Given the description of an element on the screen output the (x, y) to click on. 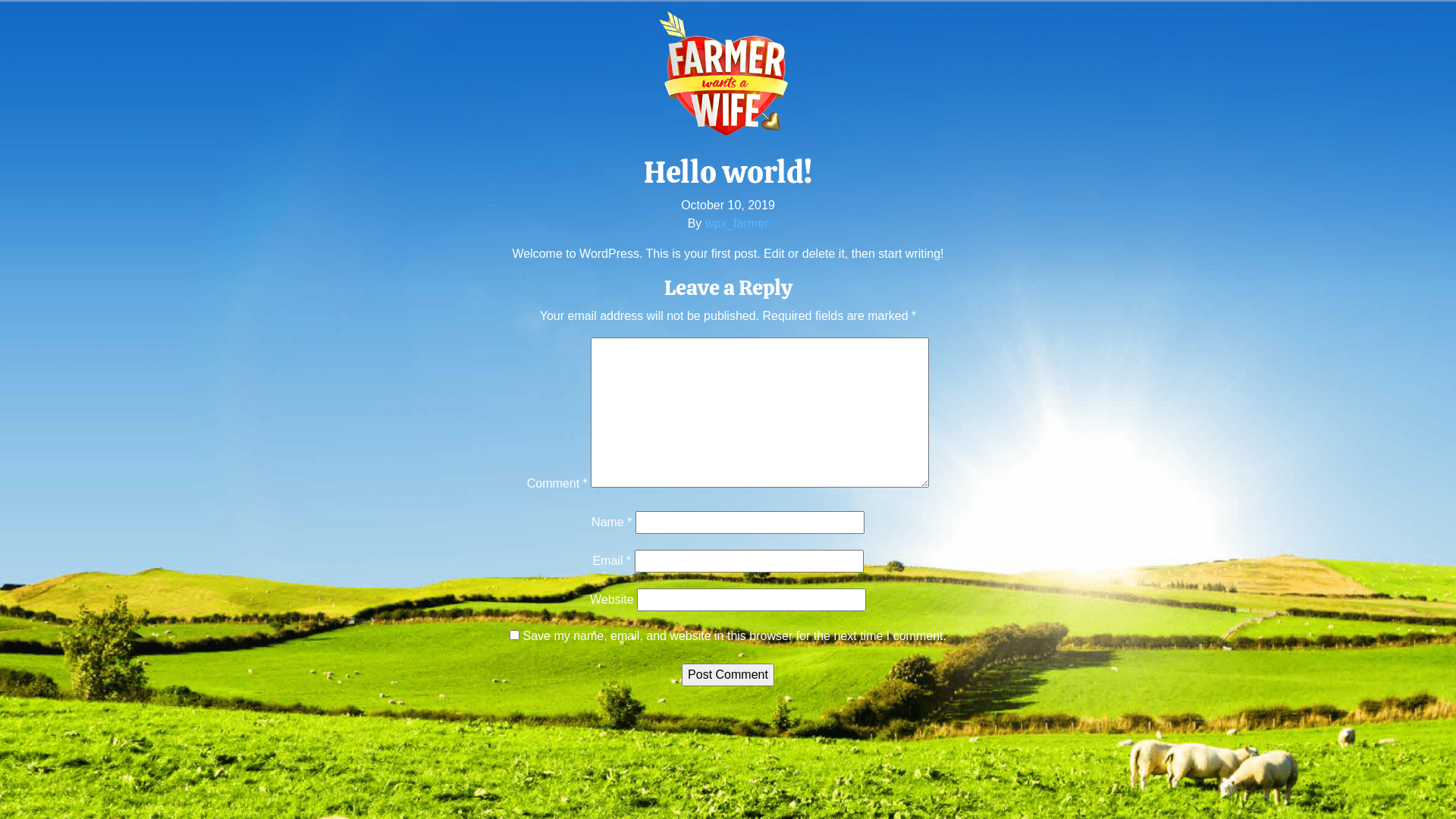
wpx_farmer Element type: text (736, 222)
The Farmer Wants A Wife Element type: text (727, 73)
Post Comment Element type: text (727, 674)
